Given the description of an element on the screen output the (x, y) to click on. 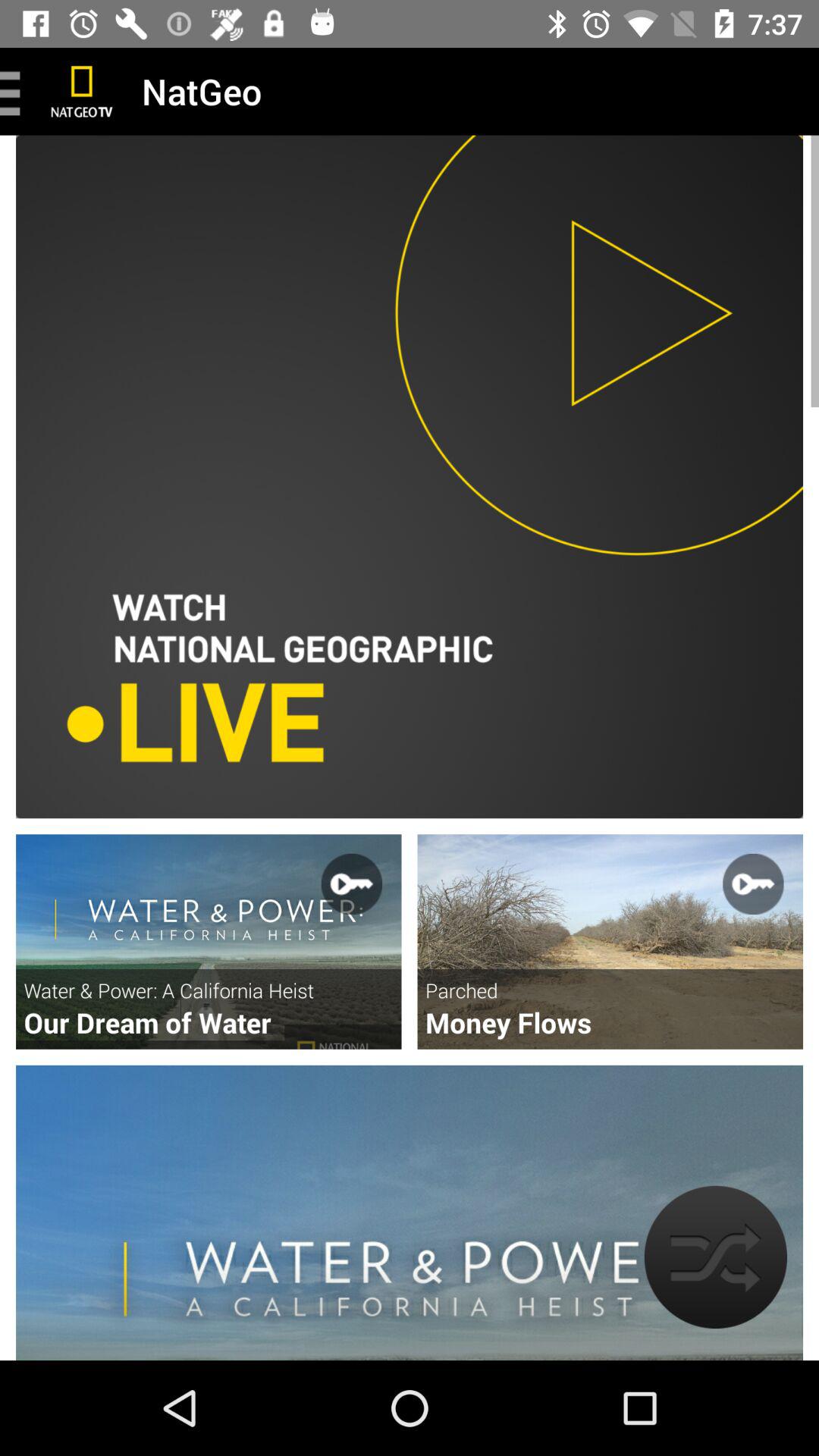
switch to national geographic live (409, 476)
